Given the description of an element on the screen output the (x, y) to click on. 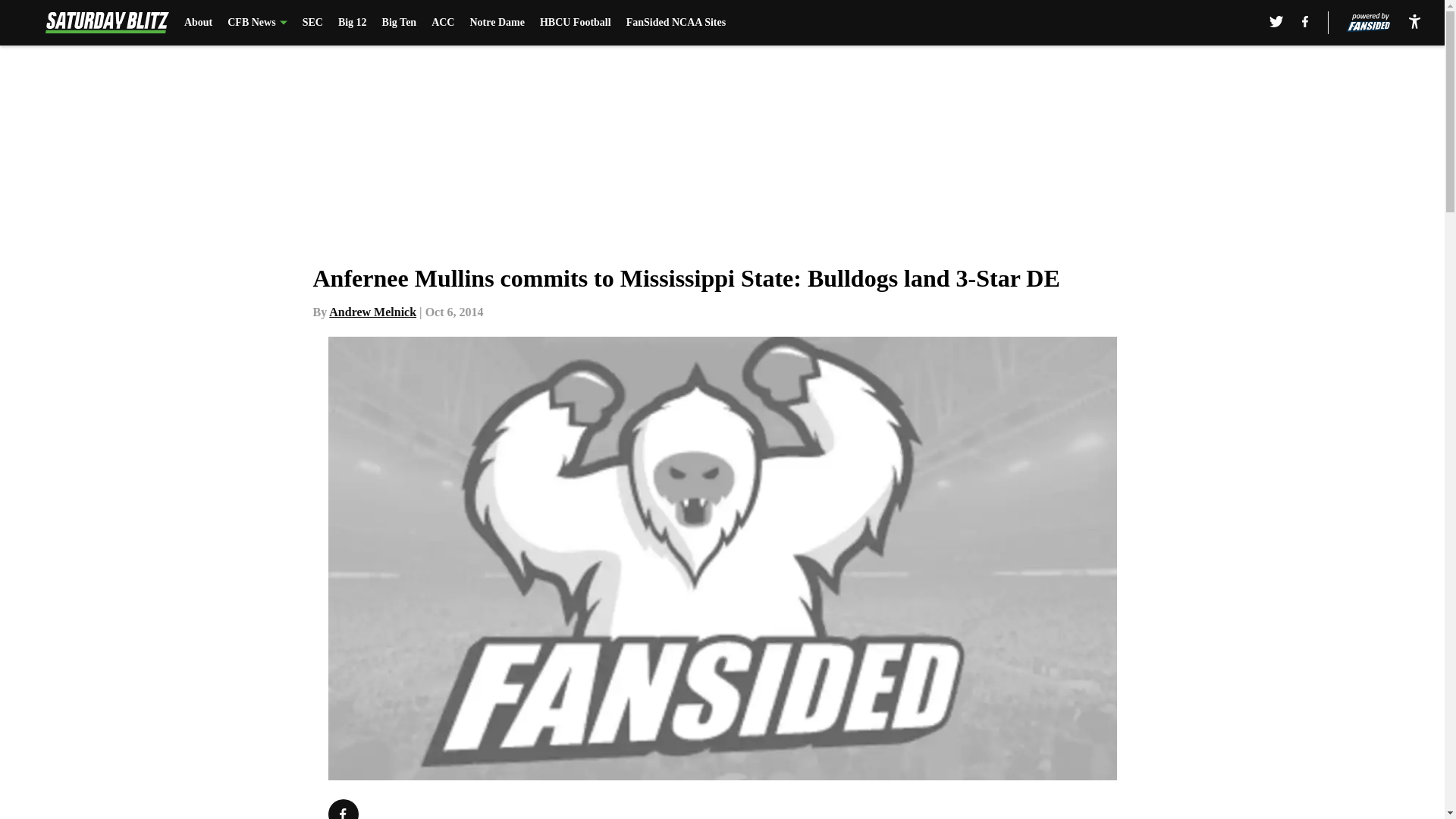
HBCU Football (575, 22)
Big Ten (398, 22)
SEC (312, 22)
Notre Dame (496, 22)
About (198, 22)
FanSided NCAA Sites (675, 22)
Big 12 (351, 22)
ACC (442, 22)
Andrew Melnick (372, 311)
